Given the description of an element on the screen output the (x, y) to click on. 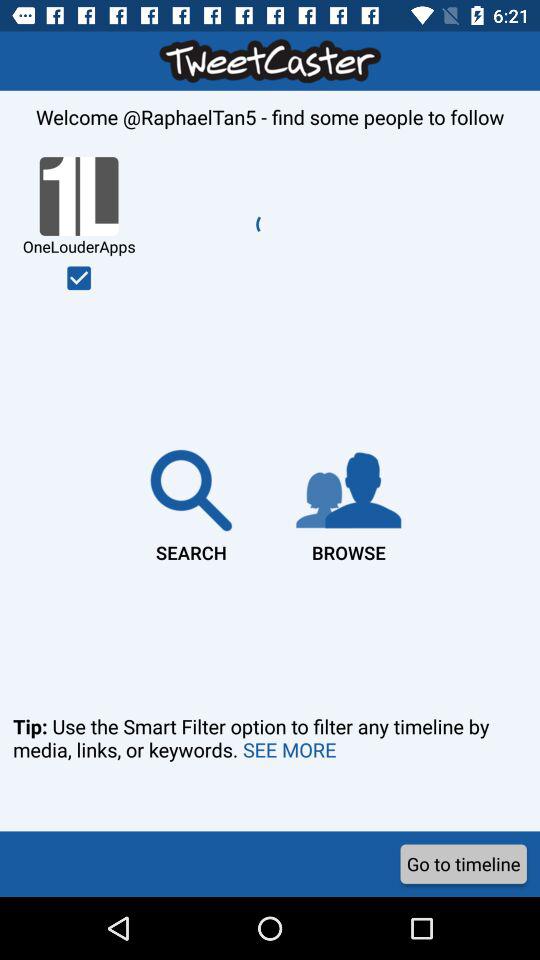
launch search (191, 502)
